Given the description of an element on the screen output the (x, y) to click on. 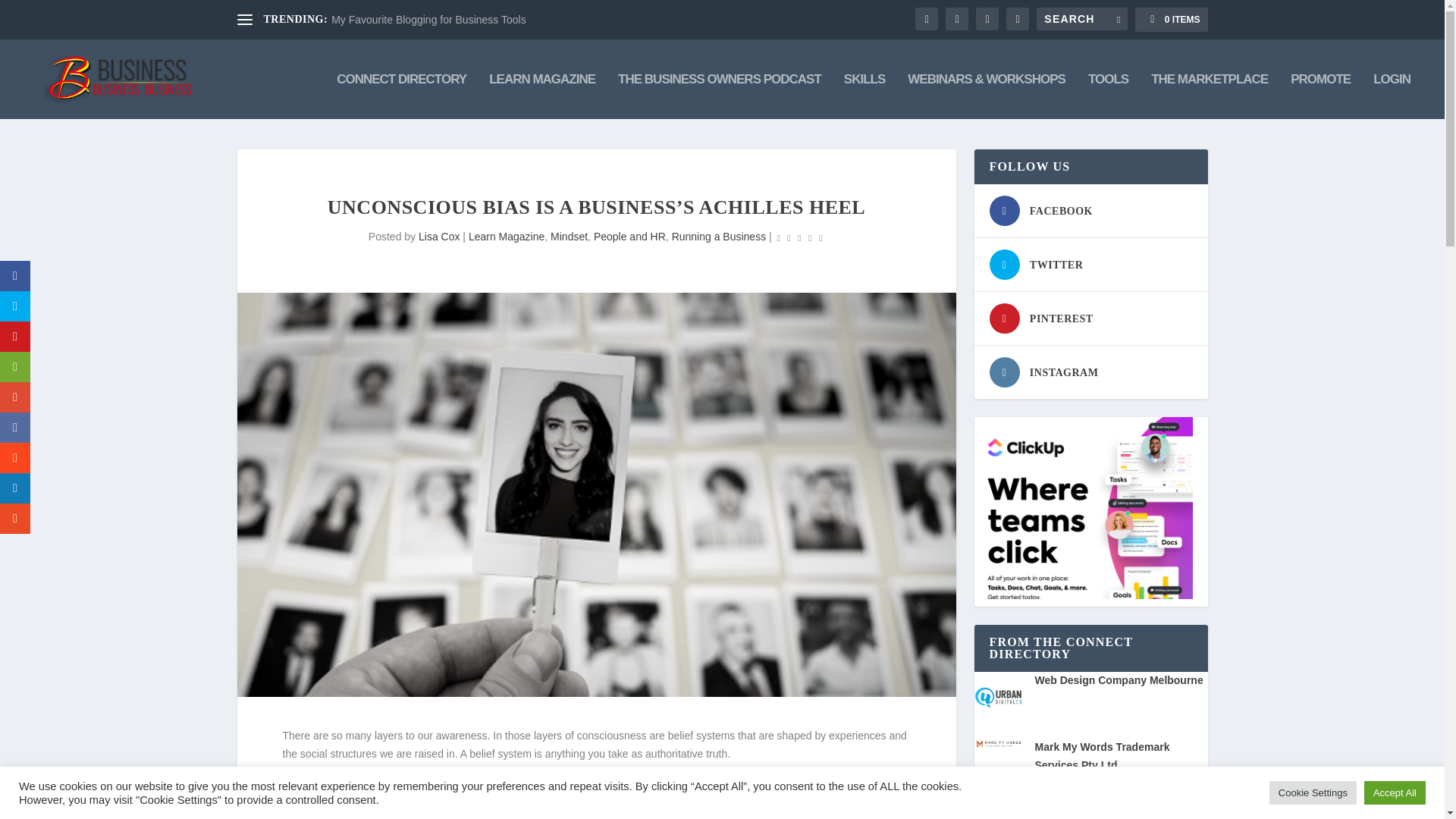
LEARN MAGAZINE (542, 95)
THE MARKETPLACE (1209, 95)
SKILLS (864, 95)
PROMOTE (1320, 95)
Posts by Lisa Cox (439, 236)
Rating: 0.00 (799, 237)
0 Items in Cart (1171, 19)
Running a Business (719, 236)
People and HR (629, 236)
Lisa Cox (439, 236)
